Given the description of an element on the screen output the (x, y) to click on. 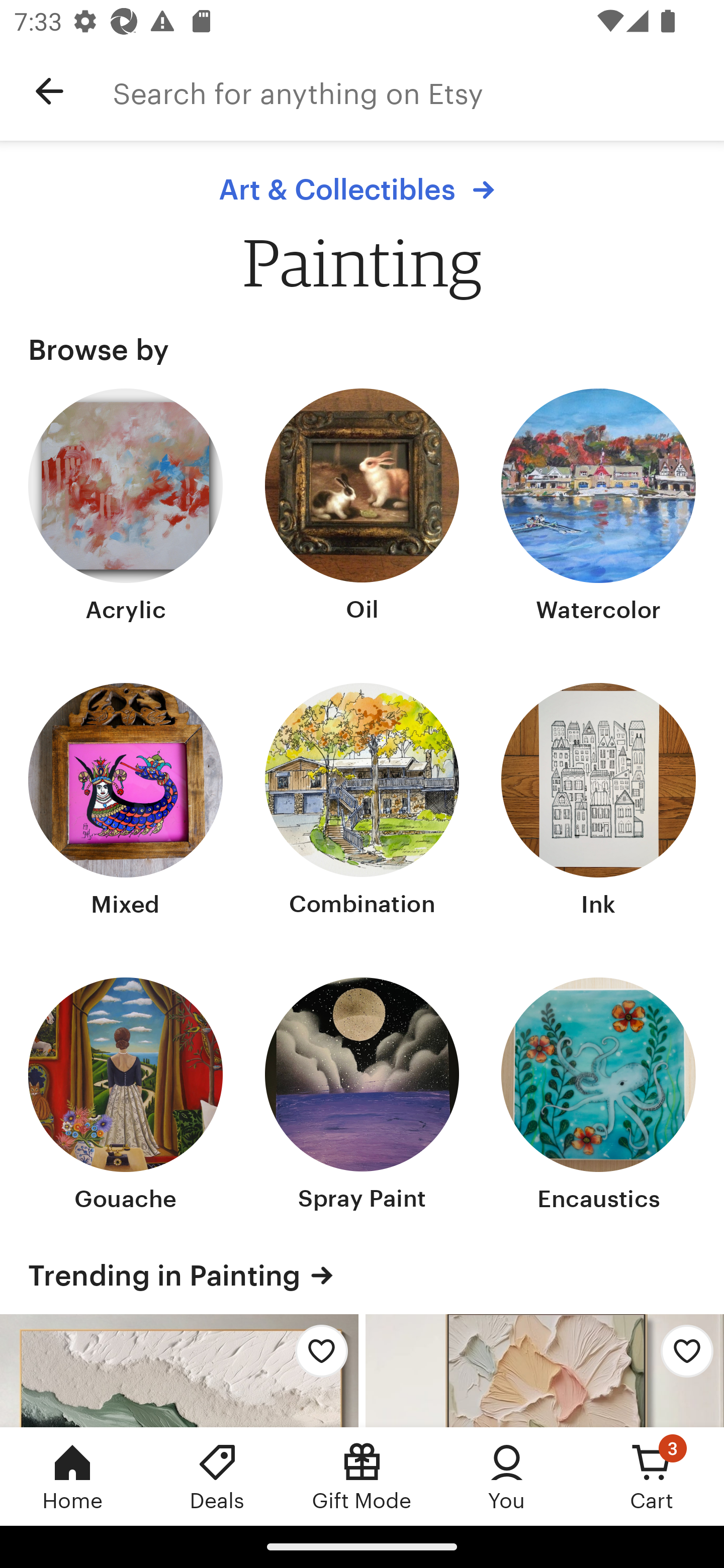
Navigate up (49, 91)
Search for anything on Etsy (418, 91)
Art & Collectibles (361, 189)
Acrylic (125, 507)
Oil (361, 507)
Watercolor (598, 507)
Mixed (125, 802)
Combination (361, 802)
Ink (598, 802)
Gouache (125, 1095)
Spray Paint (361, 1095)
Encaustics (598, 1095)
Trending in Painting  (361, 1275)
Deals (216, 1475)
Gift Mode (361, 1475)
You (506, 1475)
Cart, 3 new notifications Cart (651, 1475)
